Given the description of an element on the screen output the (x, y) to click on. 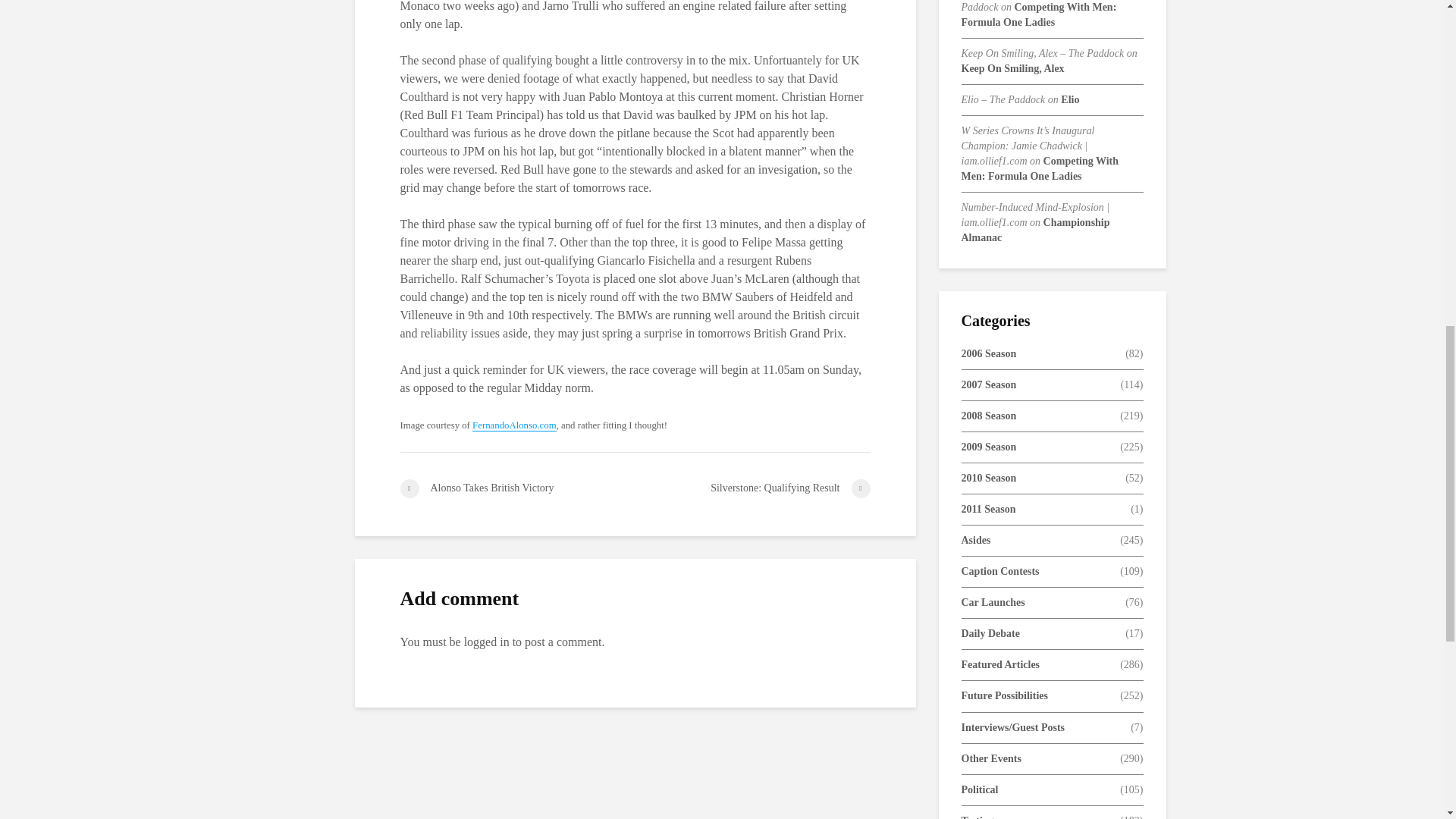
Competing With Men: Formula One Ladies (1039, 168)
2007 Season (988, 385)
FernandoAlonso.com (513, 425)
Competing With Men: Formula One Ladies (1038, 14)
Keep On Smiling, Alex (1012, 68)
Alonso Takes British Victory (517, 488)
Elio (1069, 99)
Championship Almanac (1034, 230)
logged in (486, 641)
2006 Season (988, 353)
Silverstone: Qualifying Result (752, 488)
